Given the description of an element on the screen output the (x, y) to click on. 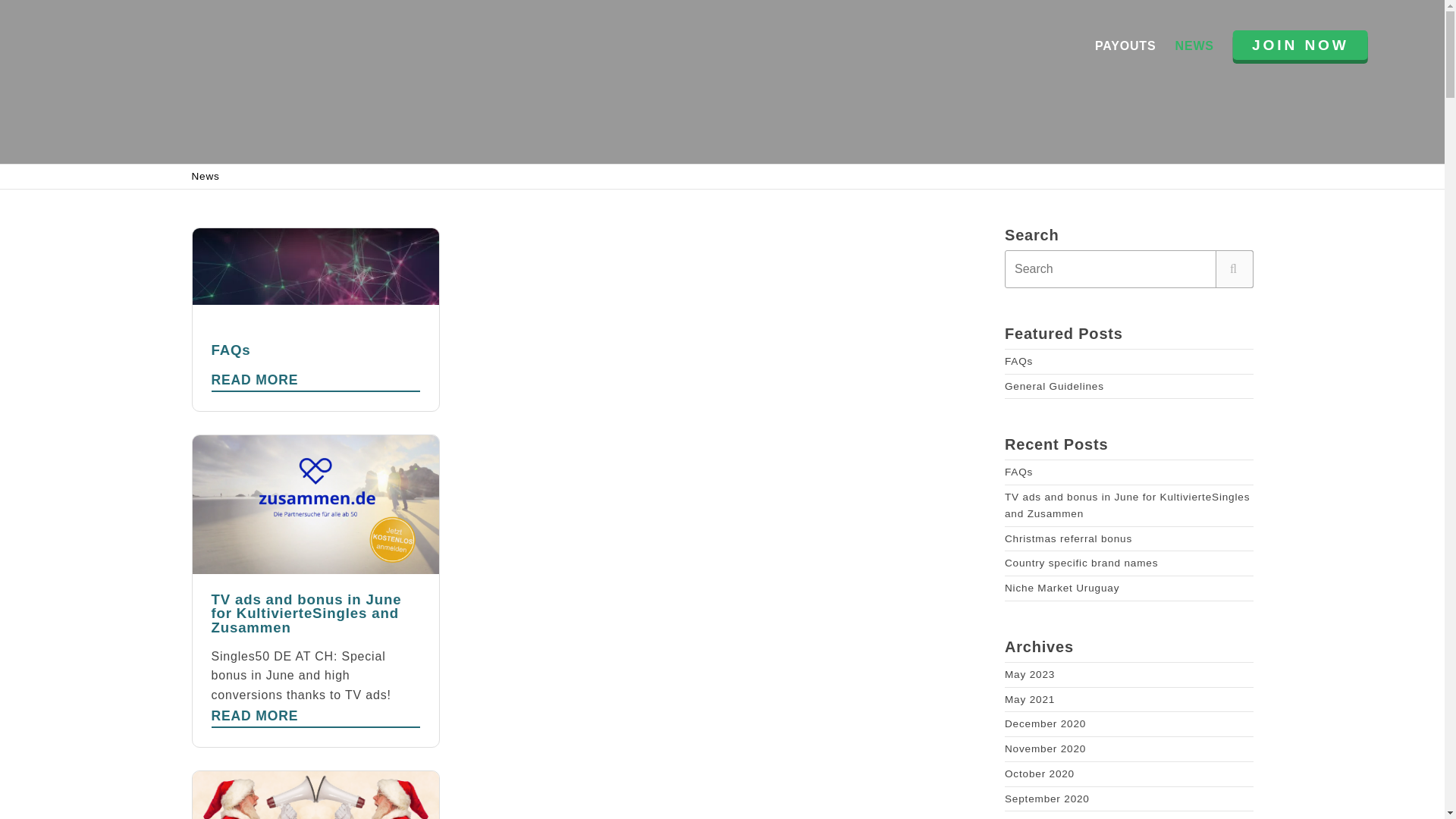
Christmas referral bonus (1068, 537)
FAQs (1018, 360)
PAYOUTS (1125, 45)
JOIN NOW (1300, 44)
Niche Market Uruguay (1061, 587)
General Guidelines (1053, 386)
FAQs (315, 319)
Country specific brand names (1018, 471)
